Given the description of an element on the screen output the (x, y) to click on. 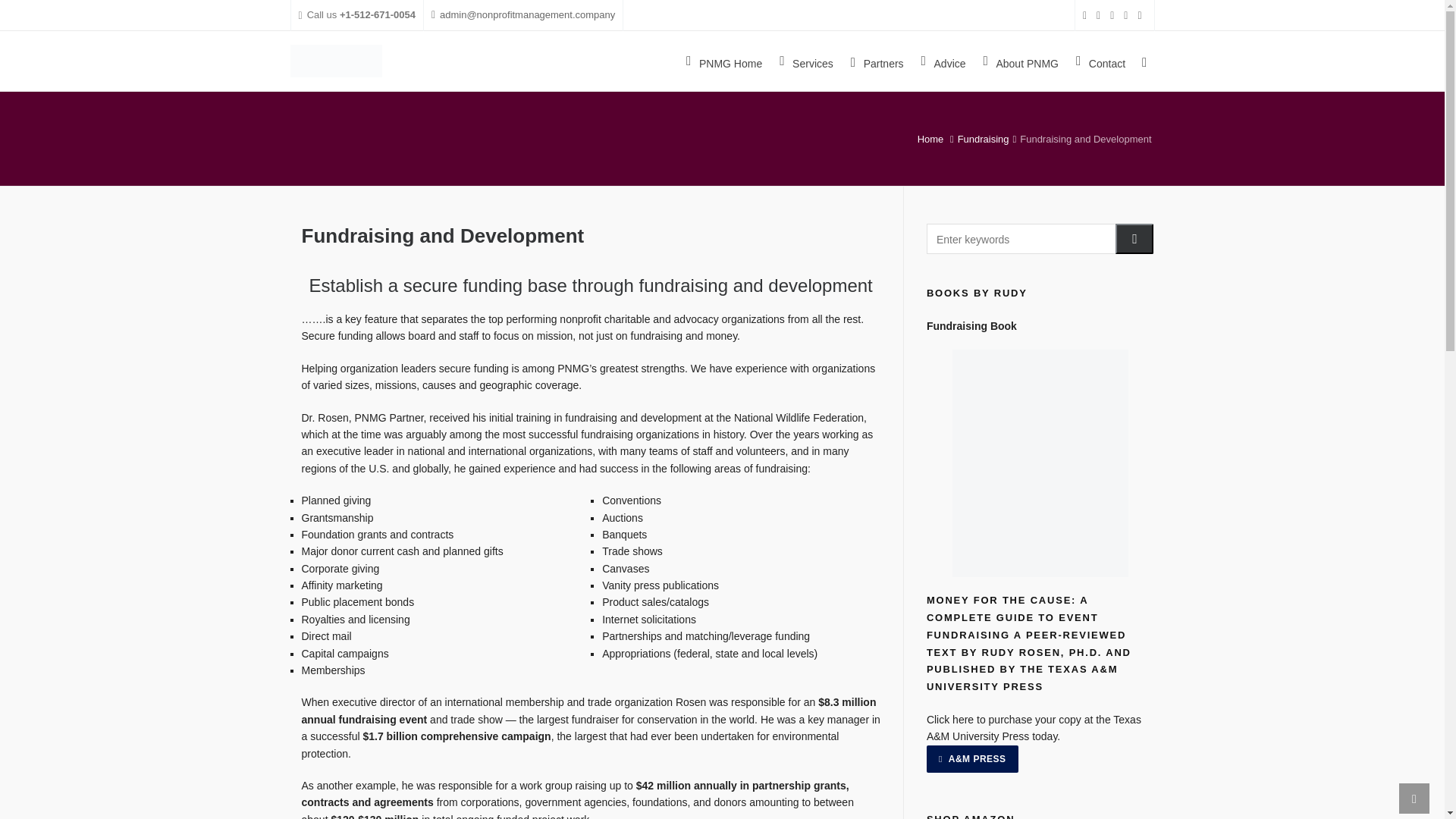
About PNMG (1021, 61)
Fundraising (983, 138)
Advice (943, 61)
Home (930, 138)
Partners (877, 61)
Contact (1100, 61)
Services (806, 61)
PNMG Home (724, 61)
